Given the description of an element on the screen output the (x, y) to click on. 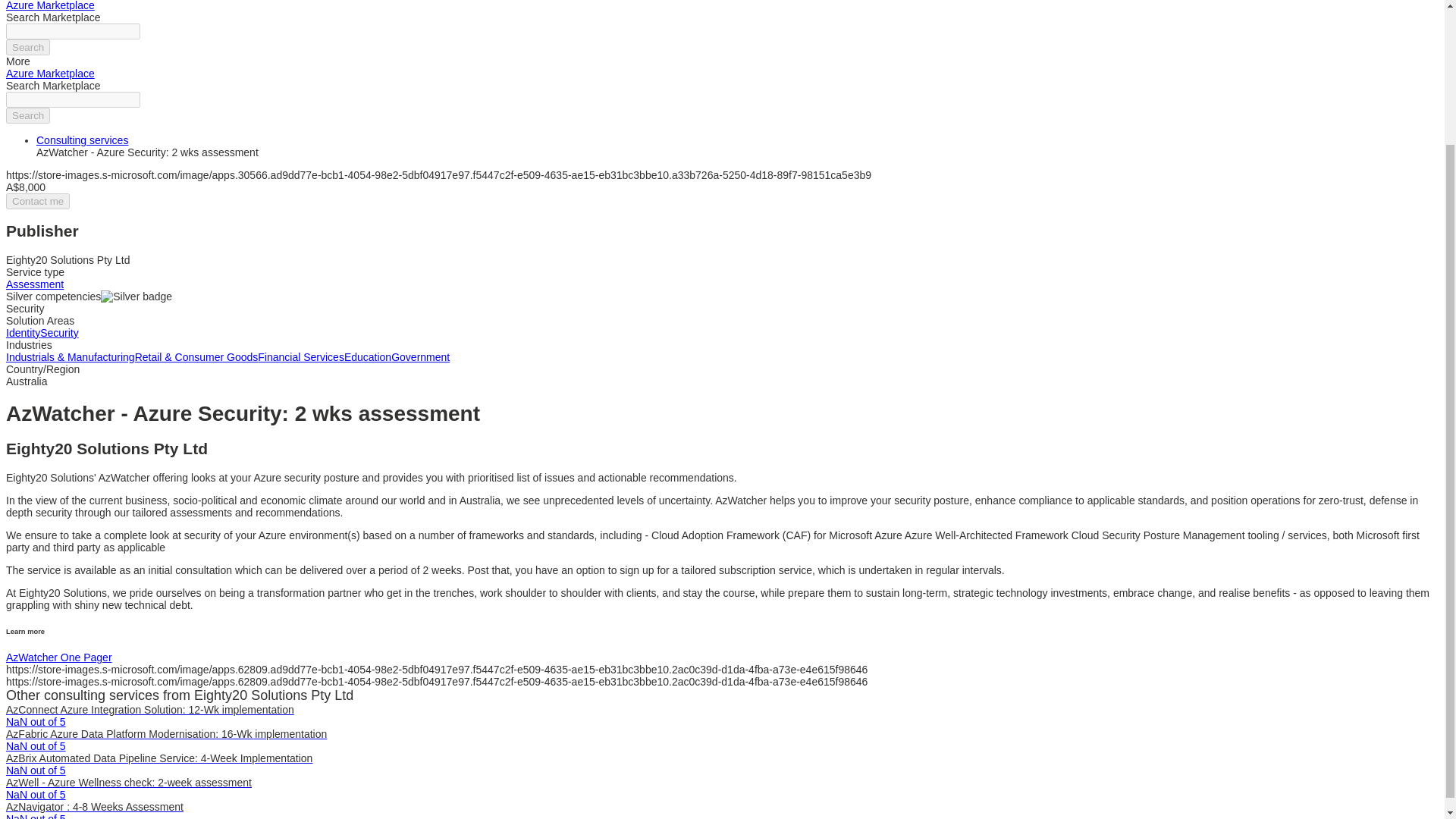
Assessment (34, 284)
Azure Marketplace (49, 73)
AzNavigator : 4-8 Weeks Assessment (94, 806)
Search (27, 115)
Azure Marketplace (49, 5)
Consulting services (82, 140)
Contact me (37, 201)
Identity (22, 332)
Government (420, 357)
AzWatcher One Pager (58, 657)
Financial Services (300, 357)
AzConnect Azure Integration Solution: 12-Wk implementation (149, 709)
Search (27, 47)
